Given the description of an element on the screen output the (x, y) to click on. 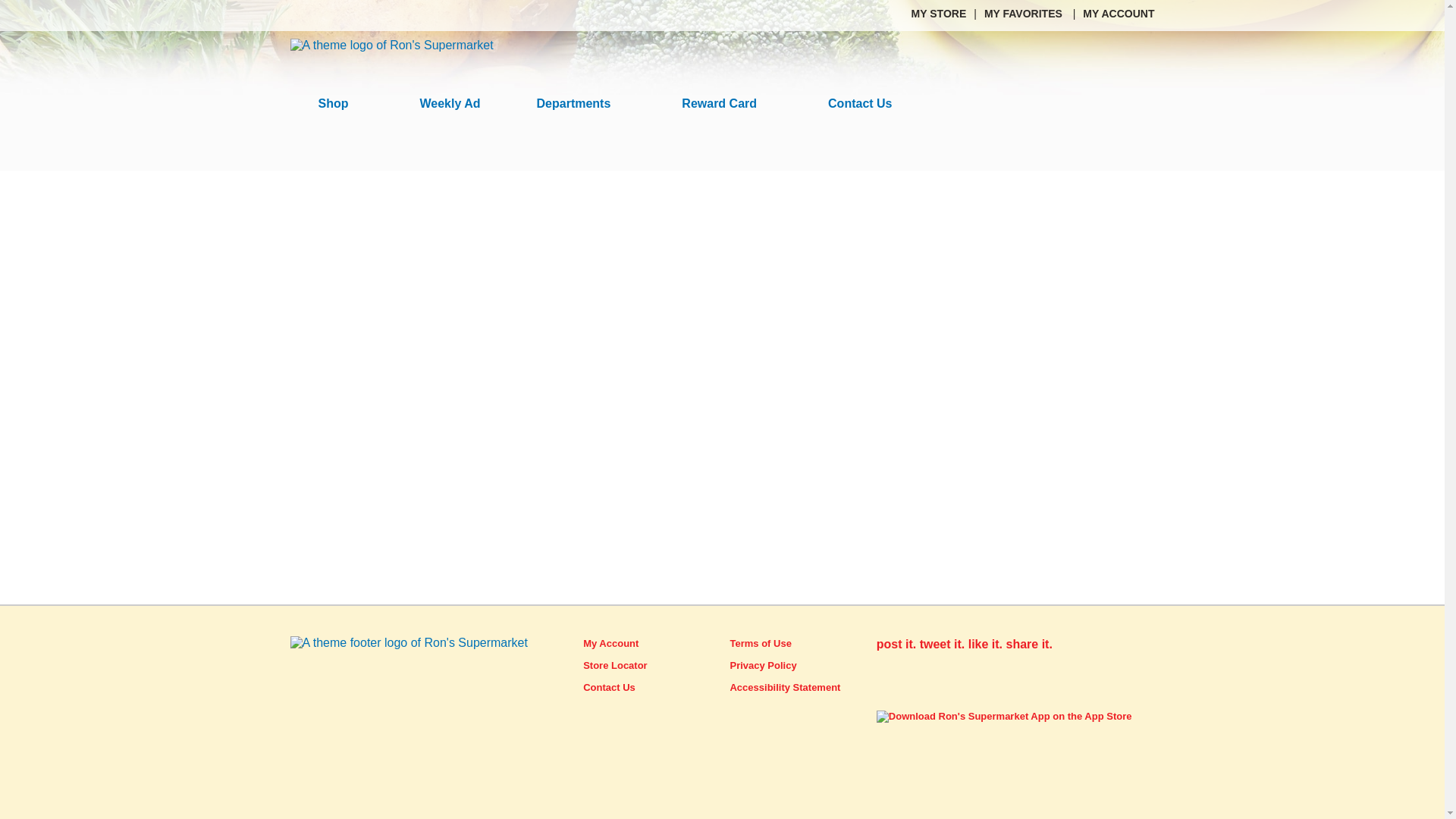
MY STORE (938, 13)
MY FAVORITES  (1024, 13)
Weekly Ad (449, 103)
Privacy Policy (762, 665)
Store Locator (615, 665)
MY ACCOUNT (1118, 13)
Contact Us (608, 686)
Reward Card (726, 103)
Departments (580, 103)
Terms of Use (759, 643)
